Given the description of an element on the screen output the (x, y) to click on. 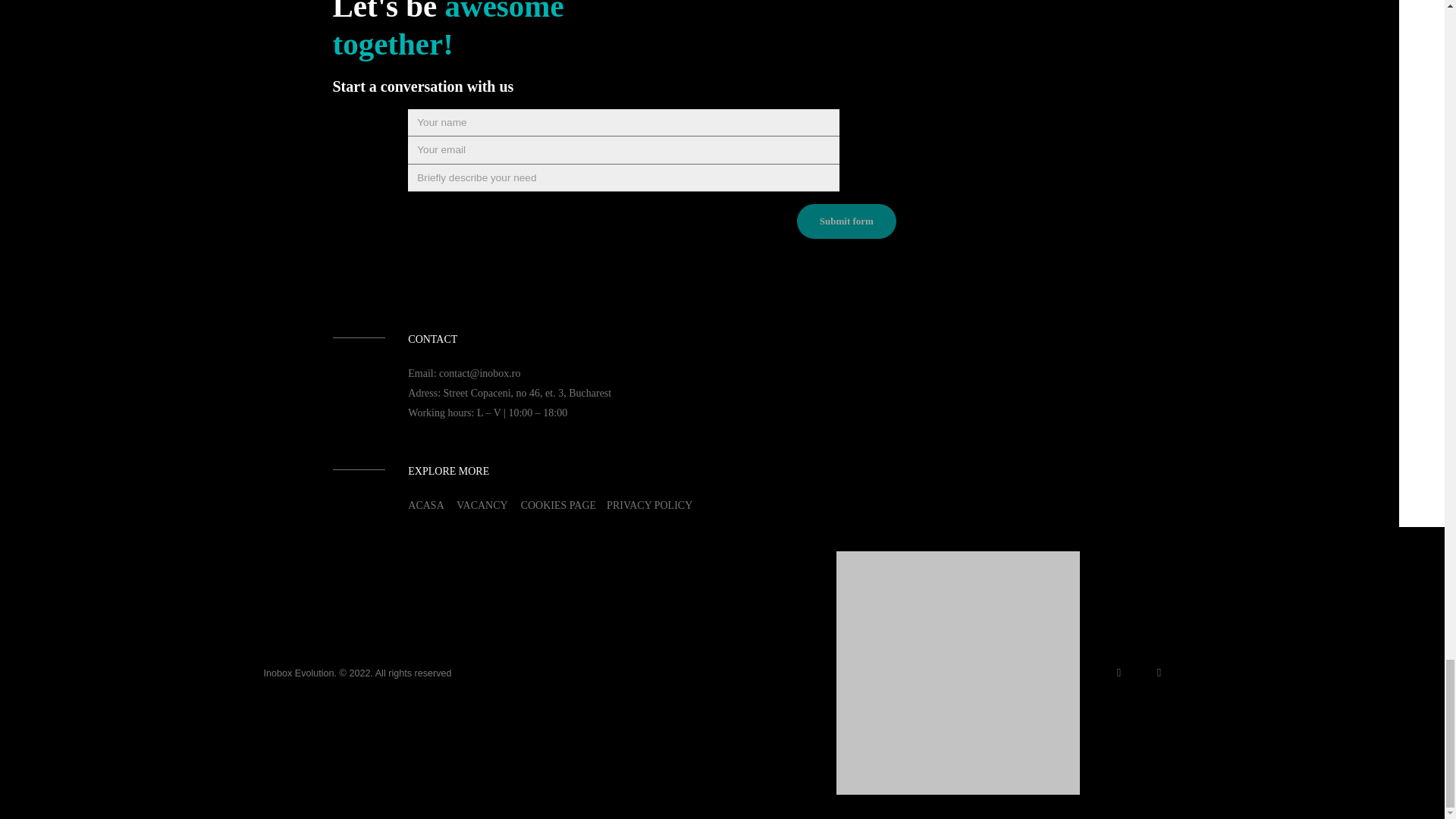
Submit form (846, 221)
Instagram (1118, 672)
Facebook (1158, 672)
